Given the description of an element on the screen output the (x, y) to click on. 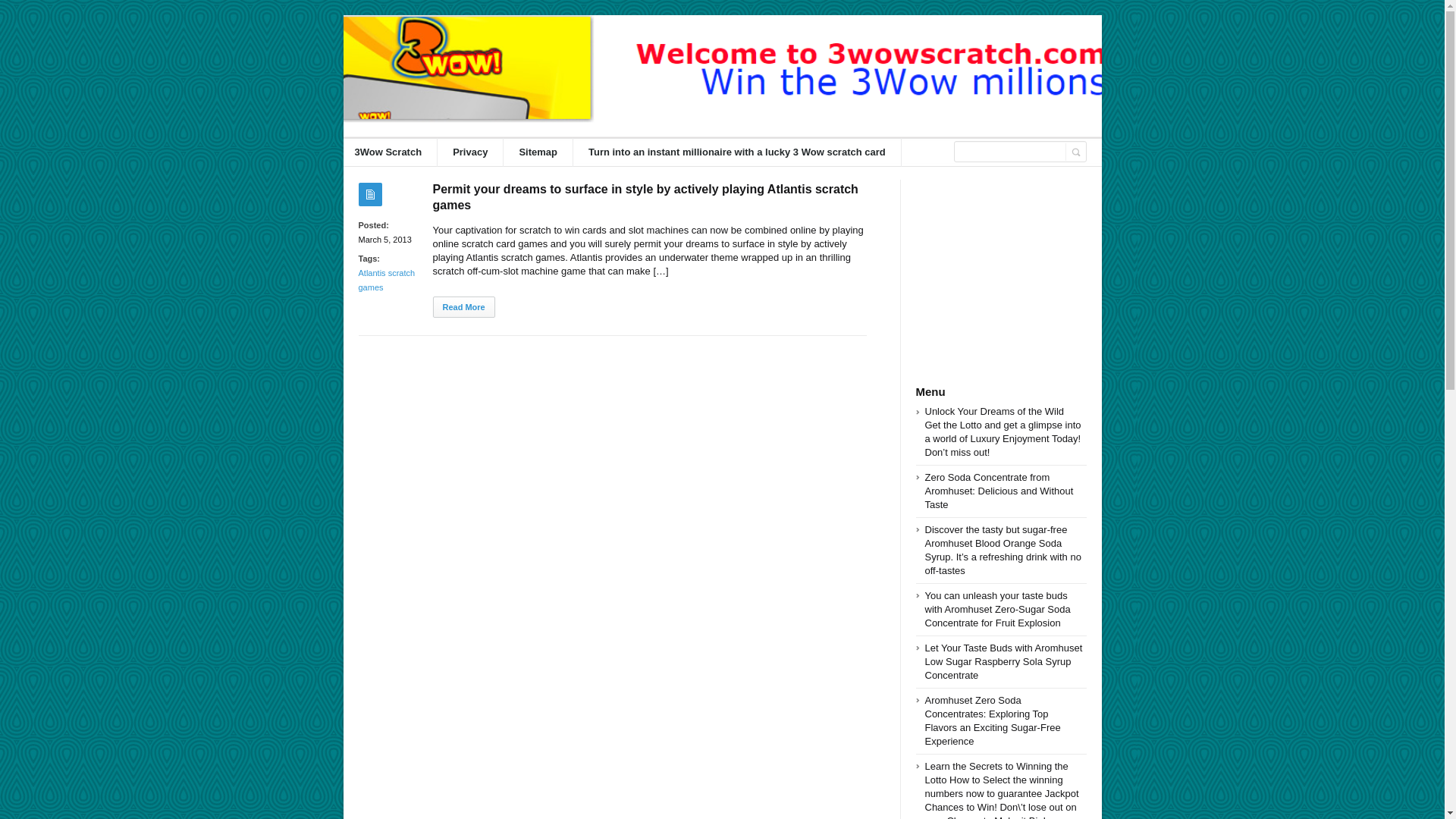
Search Element type: text (1075, 151)
Atlantis scratch games Element type: text (385, 279)
Read More Element type: text (463, 306)
Privacy Element type: text (470, 152)
Sitemap Element type: text (538, 152)
3Wow Scratch Element type: text (388, 152)
Search Element type: hover (1012, 151)
